Given the description of an element on the screen output the (x, y) to click on. 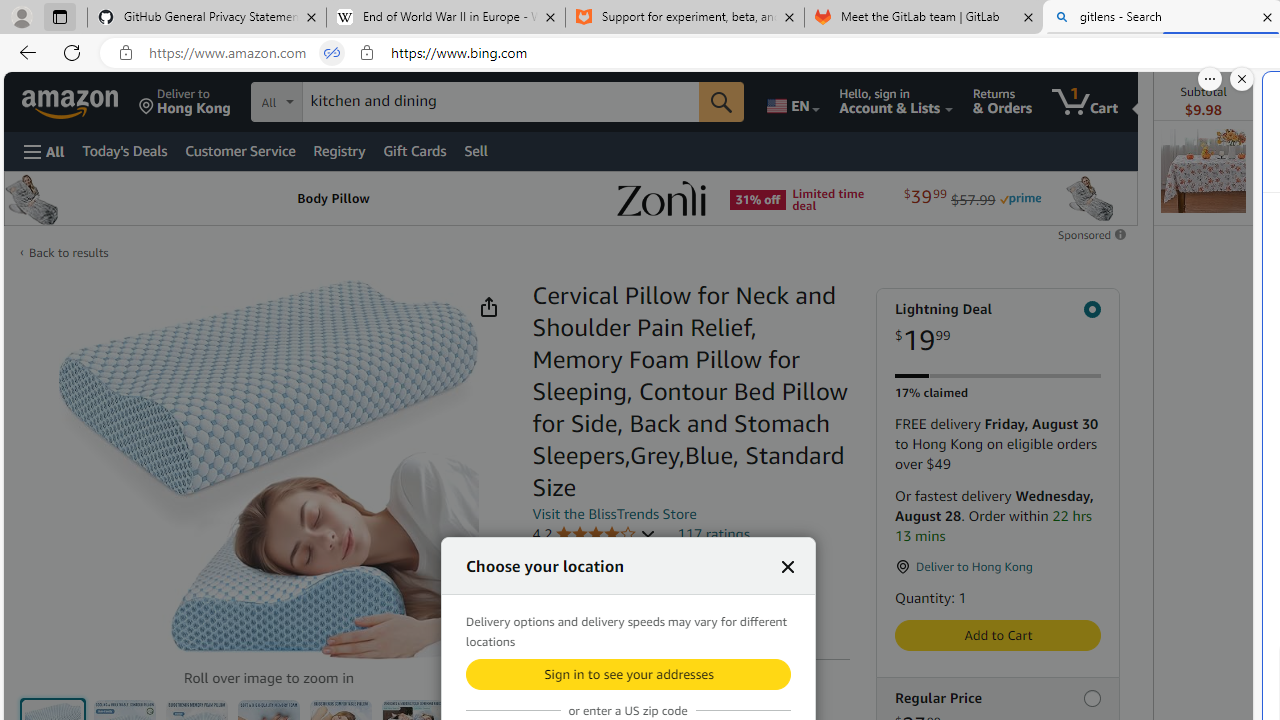
Sponsored ad (570, 198)
Customer Service (240, 150)
